Given the description of an element on the screen output the (x, y) to click on. 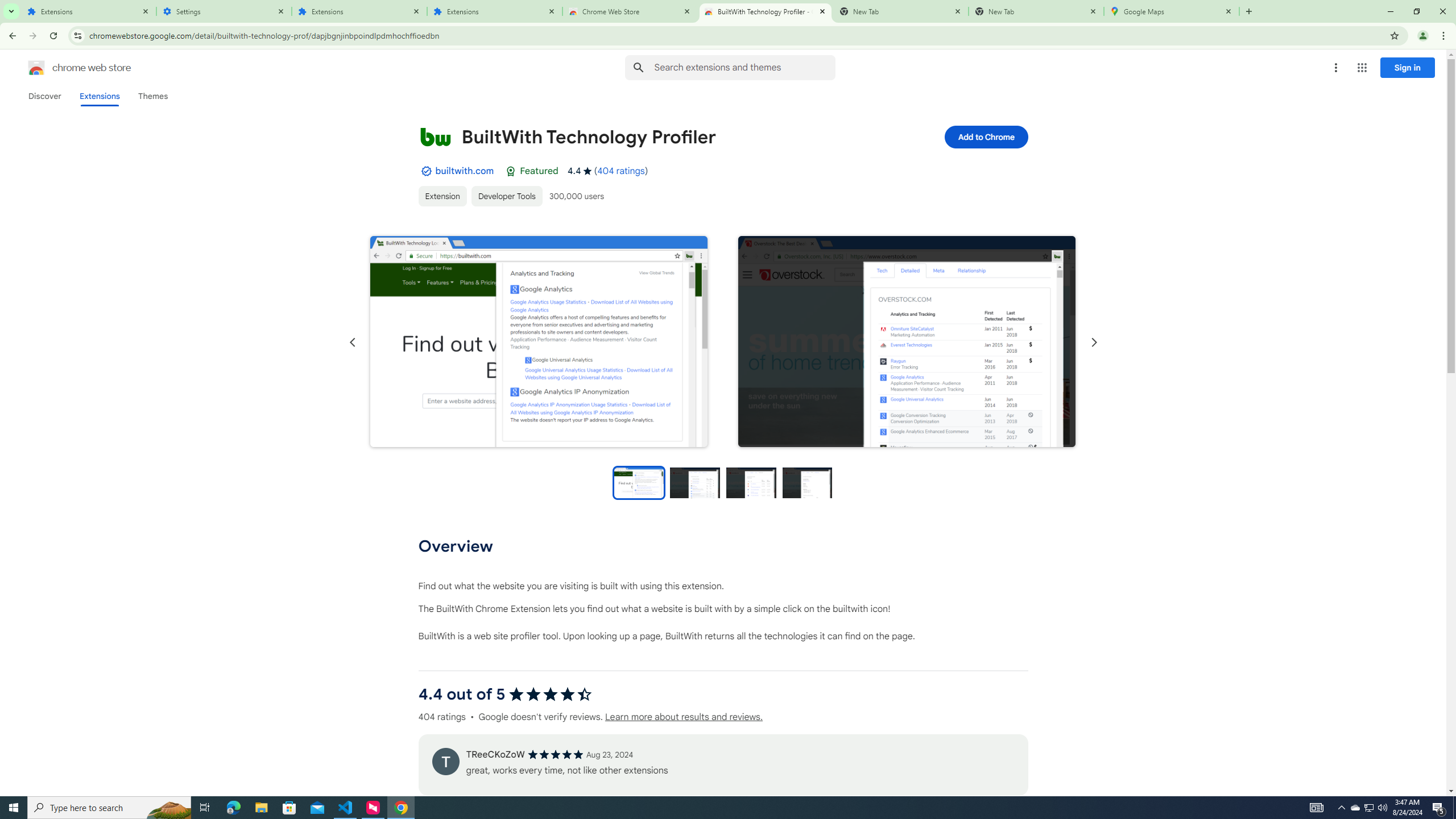
Next slide (1093, 342)
Review's profile picture (445, 760)
Settings (224, 11)
Extensions (88, 11)
Chrome Web Store (630, 11)
Item media 1 screenshot (538, 341)
404 ratings (620, 170)
By Established Publisher Badge (425, 170)
builtwith.com (464, 170)
Preview slide 2 (694, 482)
